Given the description of an element on the screen output the (x, y) to click on. 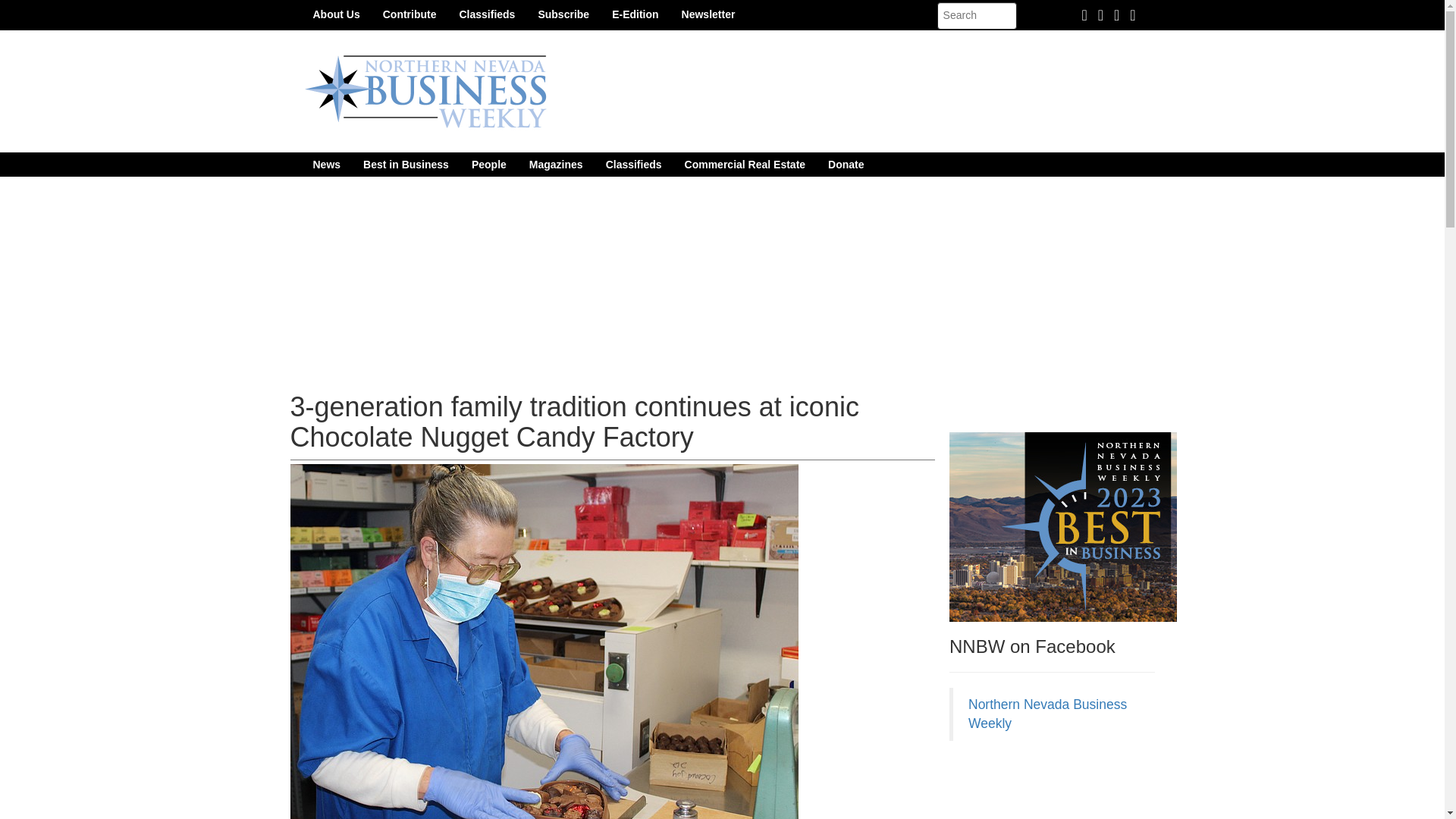
E-Edition (634, 14)
Contribute (409, 14)
Donate (845, 164)
Magazines (556, 164)
About Us (336, 14)
People (489, 164)
Best in Business (406, 164)
News (326, 164)
3rd party ad content (1062, 787)
Commercial Real Estate (744, 164)
Classifieds (485, 14)
Classifieds (633, 164)
Subscribe (562, 14)
Newsletter (707, 14)
